Given the description of an element on the screen output the (x, y) to click on. 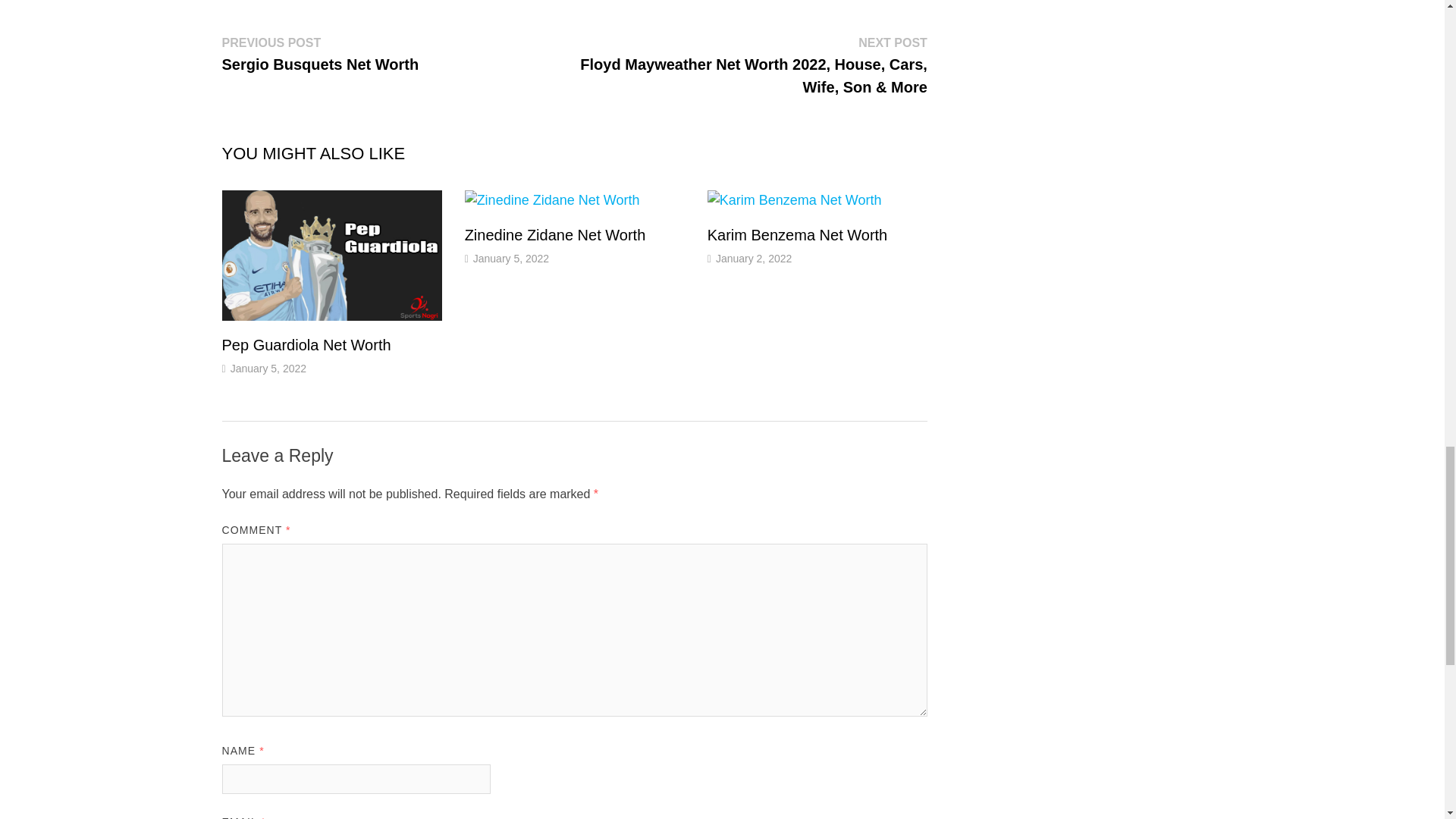
January 2, 2022 (754, 258)
Pep Guardiola Net Worth (305, 344)
Zinedine Zidane Net Worth (555, 234)
Pep Guardiola Net Worth (320, 53)
Karim Benzema Net Worth (305, 344)
Zinedine Zidane Net Worth (797, 234)
January 5, 2022 (555, 234)
Karim Benzema Net Worth (510, 258)
January 5, 2022 (797, 234)
